Given the description of an element on the screen output the (x, y) to click on. 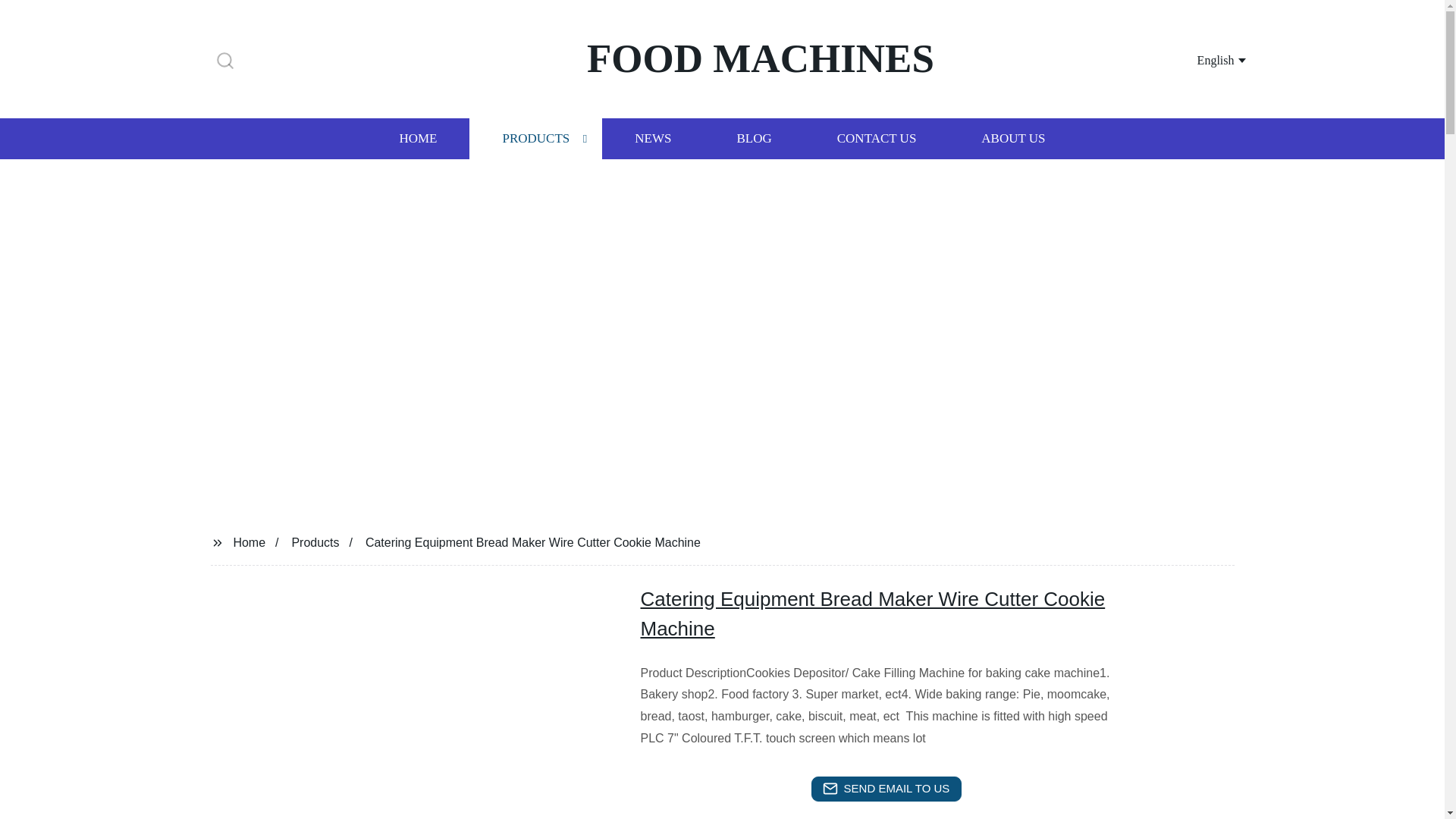
SEND EMAIL TO US (885, 788)
CONTACT US (877, 137)
English (1203, 59)
PRODUCTS (535, 137)
BLOG (753, 137)
HOME (417, 137)
NEWS (652, 137)
Home (248, 541)
Products (315, 541)
English (1203, 59)
ABOUT US (1013, 137)
